Given the description of an element on the screen output the (x, y) to click on. 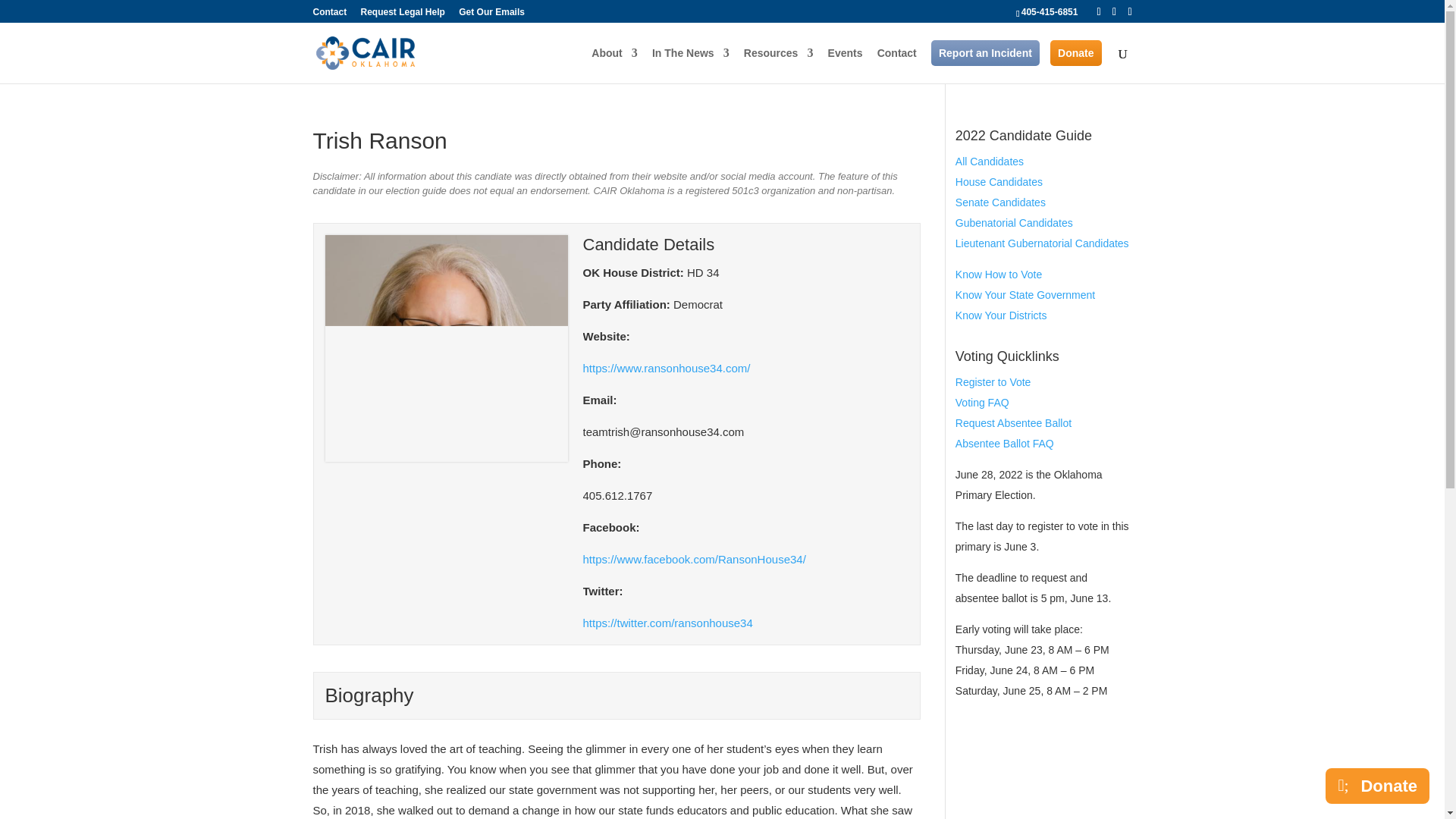
Lieutenant Gubernatorial Candidates (1042, 243)
House Candidates (998, 182)
In The News (690, 65)
Know How to Vote (998, 274)
About (614, 65)
Donate (1074, 53)
Get Our Emails (491, 15)
Contact (329, 15)
Events (845, 65)
Senate Candidates (1000, 202)
All Candidates (989, 161)
Report an Incident (985, 53)
Resources (778, 65)
Contact (897, 65)
Gubenatorial Candidates (1014, 223)
